Given the description of an element on the screen output the (x, y) to click on. 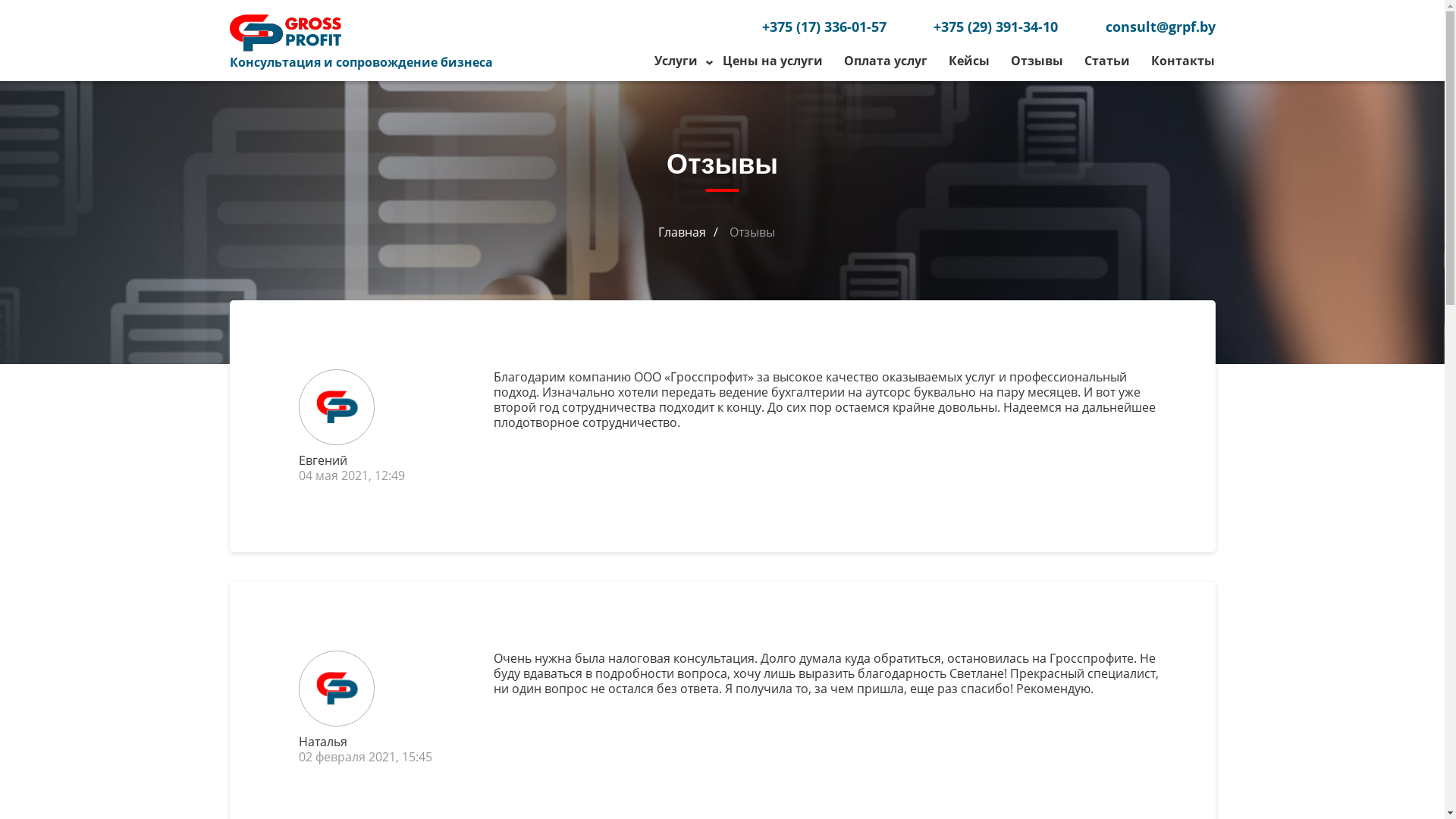
+375 (17) 336-01-57 Element type: text (824, 28)
+375 (29) 391-34-10 Element type: text (995, 28)
consult@grpf.by Element type: text (1160, 28)
